Given the description of an element on the screen output the (x, y) to click on. 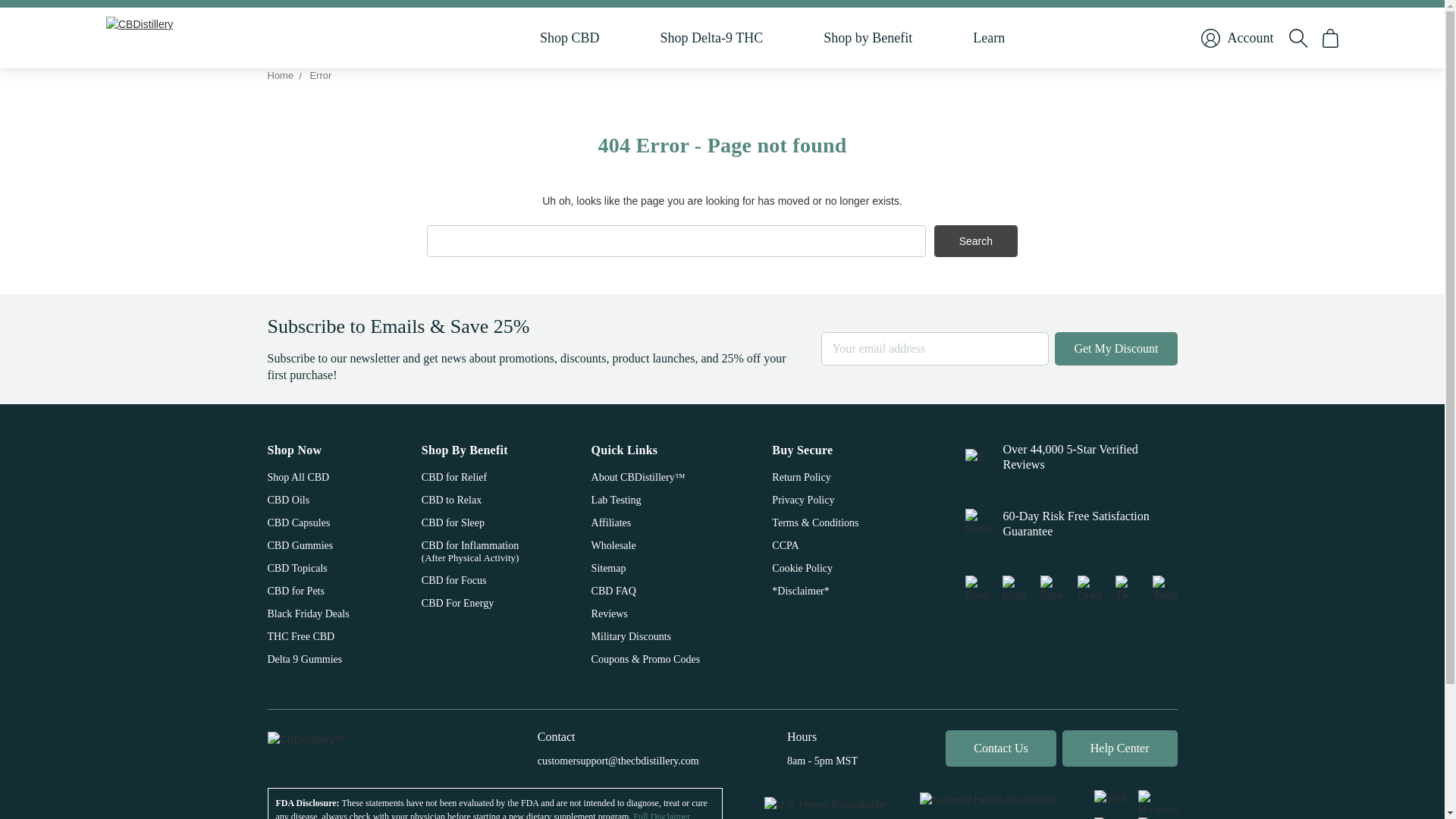
Twitter (1164, 587)
Search (975, 240)
LinkedIn (1127, 587)
Instagram (1014, 587)
Email (975, 587)
Facebook (1052, 587)
Shop CBD (569, 37)
LinkedIn (1089, 587)
